Given the description of an element on the screen output the (x, y) to click on. 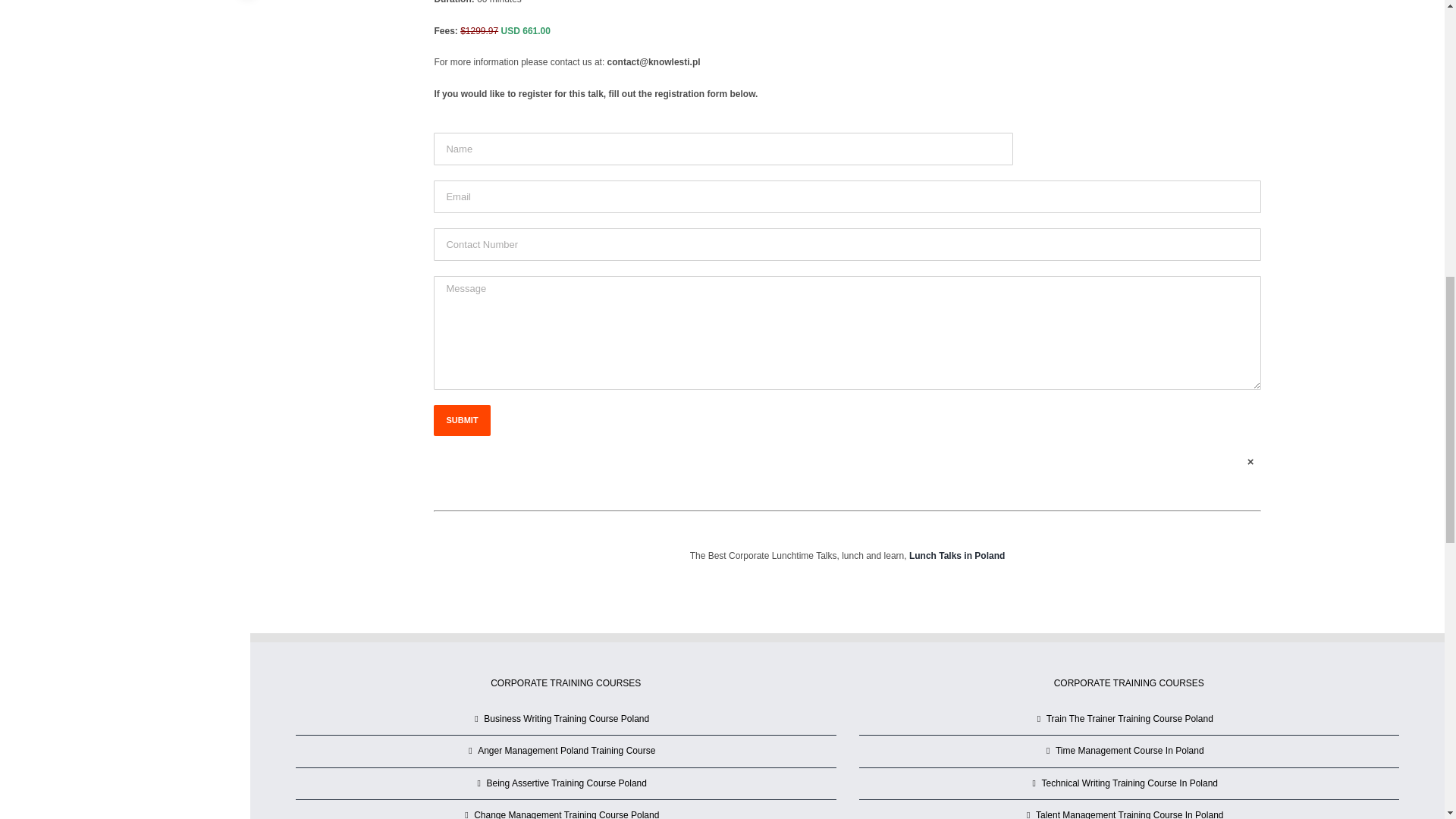
submit (461, 419)
Business Writing Training Course Poland (566, 719)
Being Assertive Training Course Poland (566, 783)
Train The Trainer Training Course Poland (1129, 719)
Talent Management Training Course In Poland (1129, 813)
Time Management Course In Poland (1129, 751)
Lunch Talks in Poland (956, 555)
Technical Writing Training Course In Poland (1129, 783)
Anger Management Poland Training Course (566, 751)
Change Management Training Course Poland (566, 813)
